Given the description of an element on the screen output the (x, y) to click on. 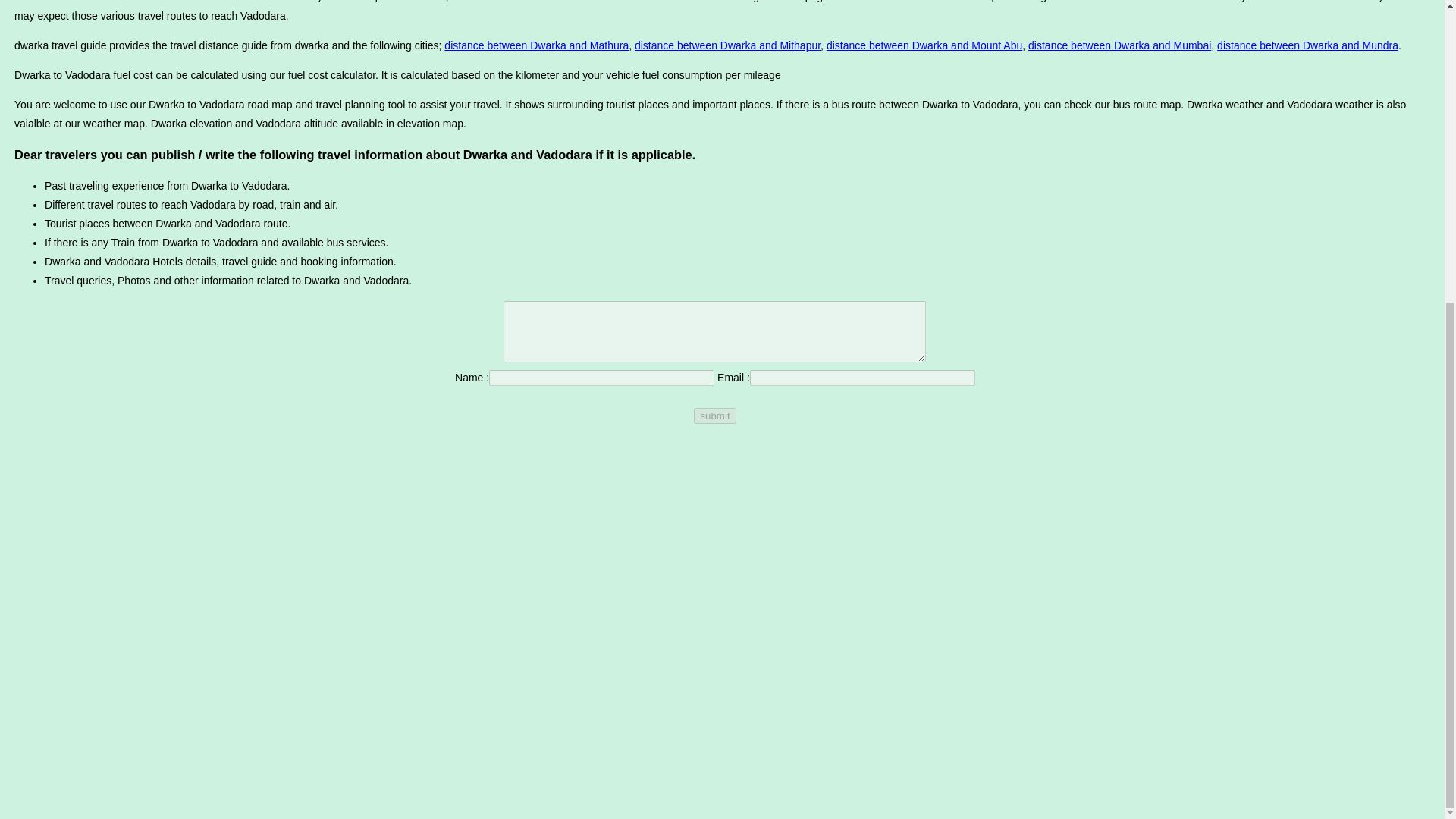
distance between Dwarka and Mundra (1307, 45)
distance between Dwarka and Mathura (536, 45)
distance between Dwarka and Mithapur (727, 45)
distance between Dwarka and Mumbai (1119, 45)
submit (714, 415)
distance between Dwarka and Mount Abu (924, 45)
submit (714, 415)
